Given the description of an element on the screen output the (x, y) to click on. 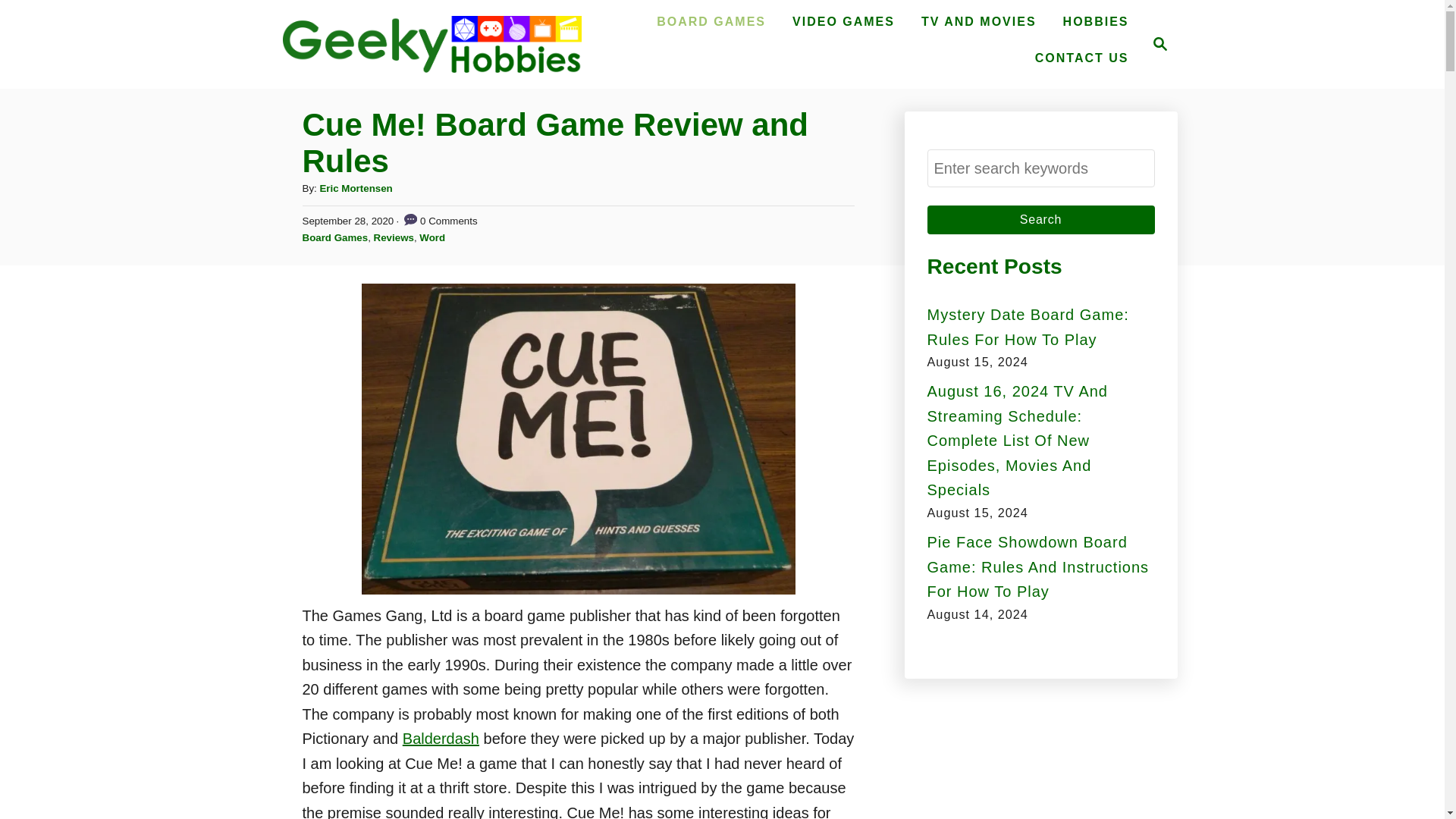
Board Games (334, 237)
Search (1040, 219)
HOBBIES (1096, 21)
VIDEO GAMES (1155, 43)
Word (843, 21)
Geeky Hobbies (432, 237)
Search (431, 43)
Search for: (1040, 219)
Reviews (1040, 168)
